Given the description of an element on the screen output the (x, y) to click on. 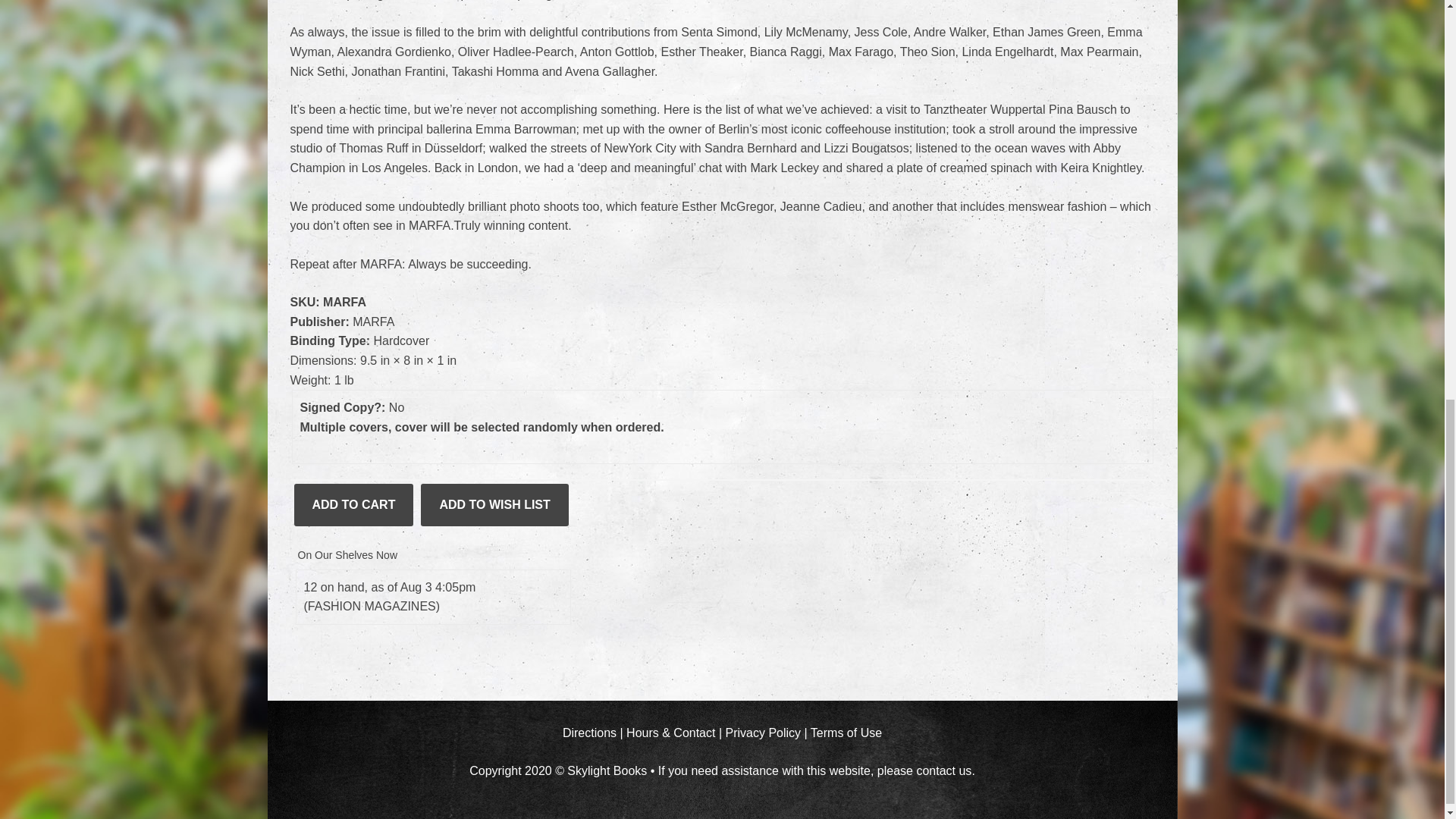
Add to cart (353, 505)
